Given the description of an element on the screen output the (x, y) to click on. 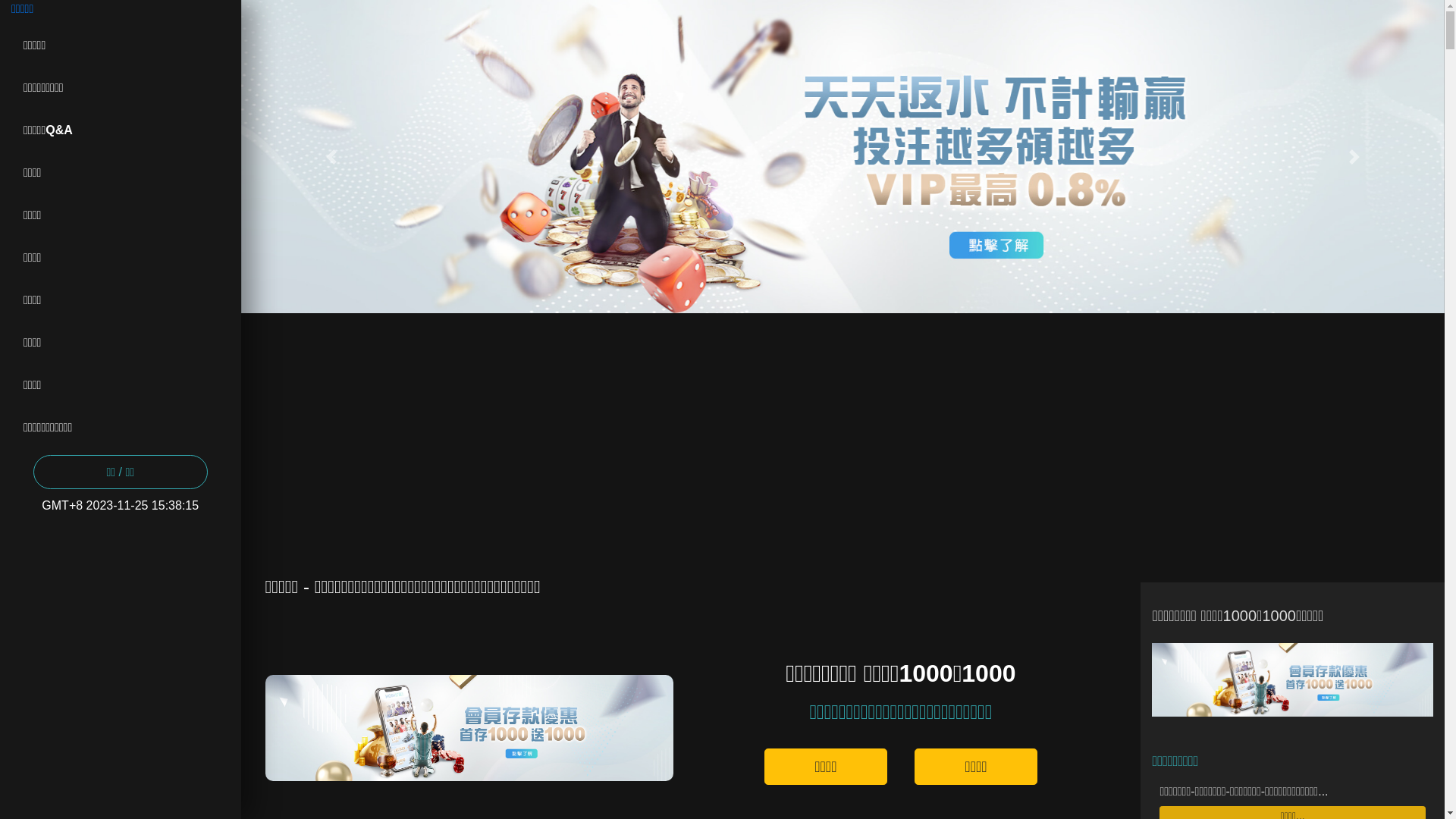
Previous Element type: text (331, 156)
YouTube video player Element type: hover (836, 432)
Next Element type: text (1354, 156)
